Given the description of an element on the screen output the (x, y) to click on. 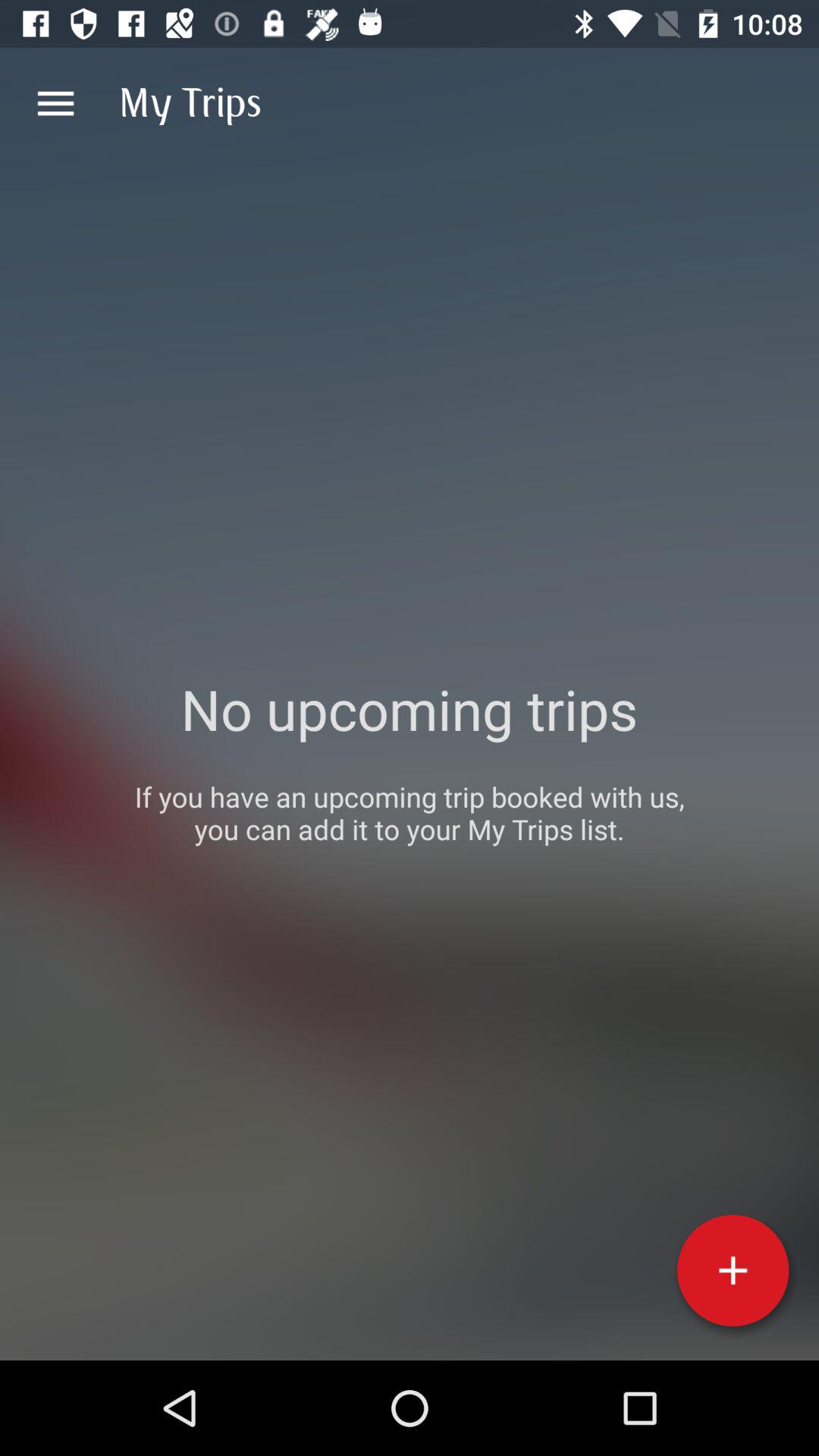
turn off icon above the no upcoming trips (55, 103)
